Given the description of an element on the screen output the (x, y) to click on. 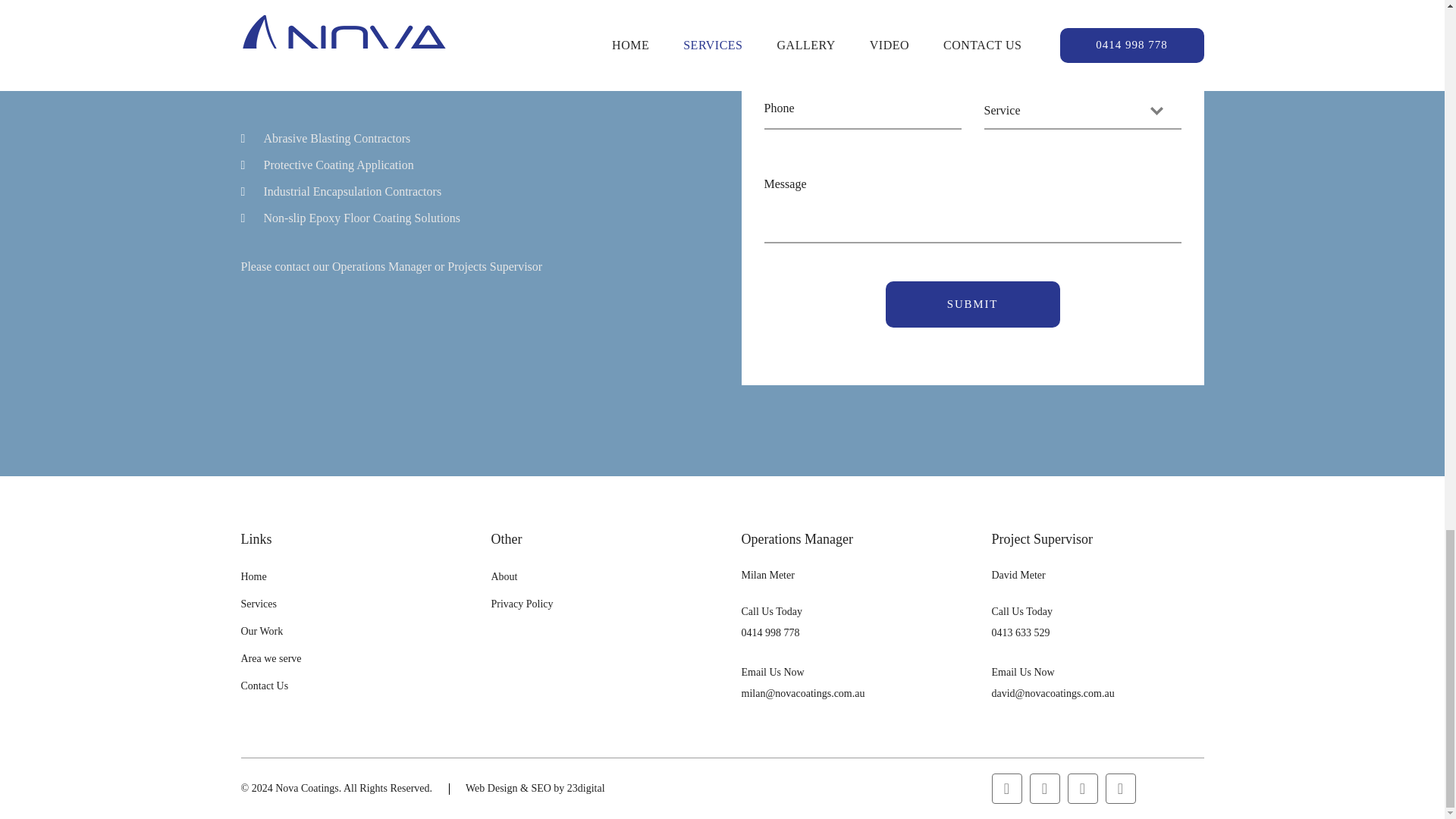
Contact Us (264, 685)
Our Work (262, 631)
About (505, 576)
Non-slip Epoxy Floor Coating Solutions (362, 217)
Submit (972, 304)
0413 633 529 (1020, 632)
Privacy Policy (522, 603)
Linkedin (1120, 788)
0414 998 778 (770, 632)
Home (253, 576)
